Given the description of an element on the screen output the (x, y) to click on. 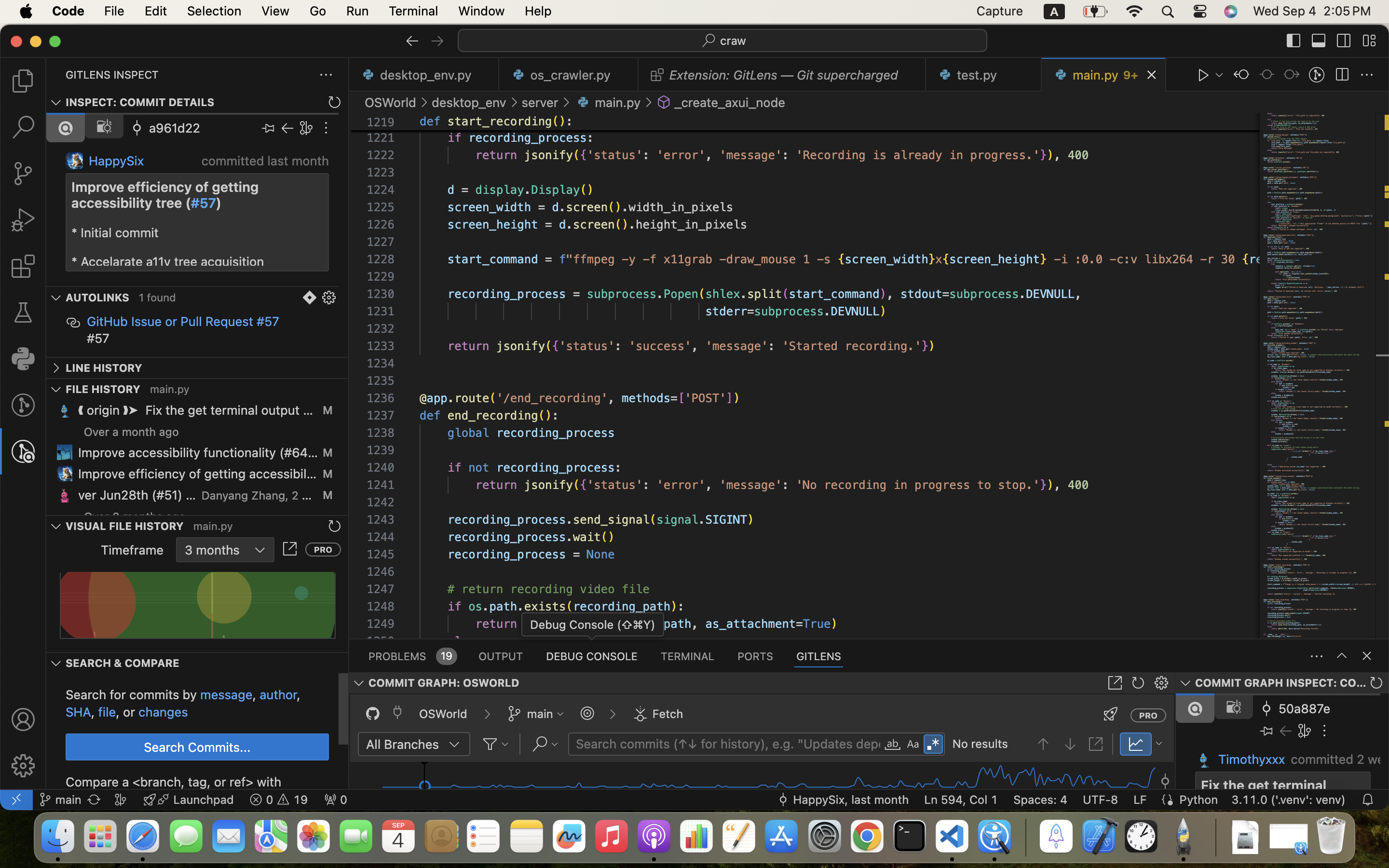
SEARCH & COMPARE Element type: AXStaticText (122, 662)
 Element type: AXButton (334, 101)
OSWorld Element type: AXGroup (390, 101)
❰ origin ❱➤  Fix the get terminal output error caused by namespace parameter changes Element type: AXStaticText (195, 410)
0 PORTS Element type: AXRadioButton (755, 655)
